Given the description of an element on the screen output the (x, y) to click on. 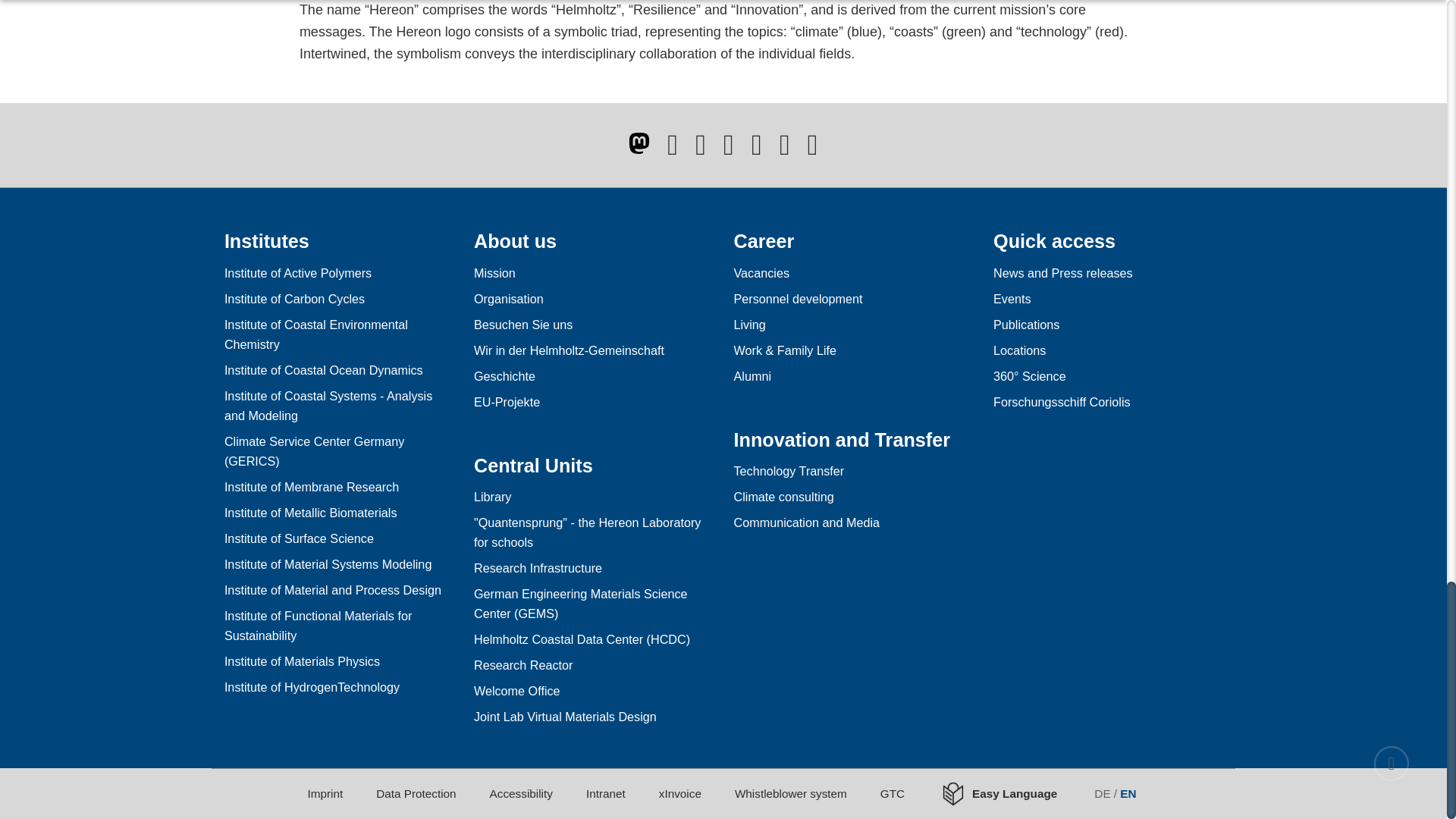
Easy Language (1007, 793)
Click to change language (1116, 793)
Hereon at Mastodon (638, 142)
